Given the description of an element on the screen output the (x, y) to click on. 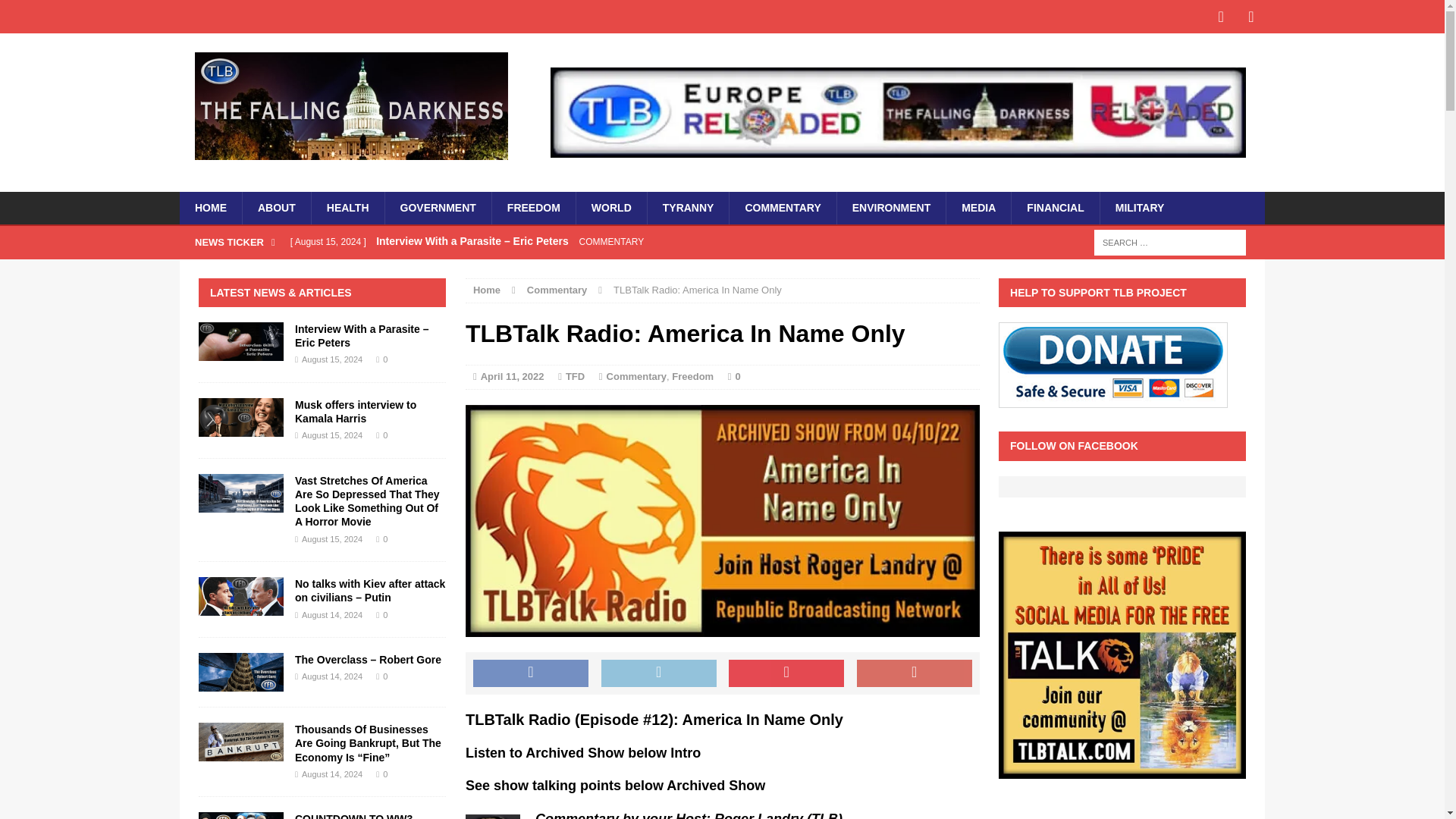
MILITARY (1139, 207)
The Falling Darkness (350, 106)
Musk offers interview to Kamala Harris (582, 273)
FREEDOM (533, 207)
ENVIRONMENT (889, 207)
Commentary (556, 289)
TYRANNY (687, 207)
MEDIA (977, 207)
Tweet This Post (658, 673)
WORLD (610, 207)
